Given the description of an element on the screen output the (x, y) to click on. 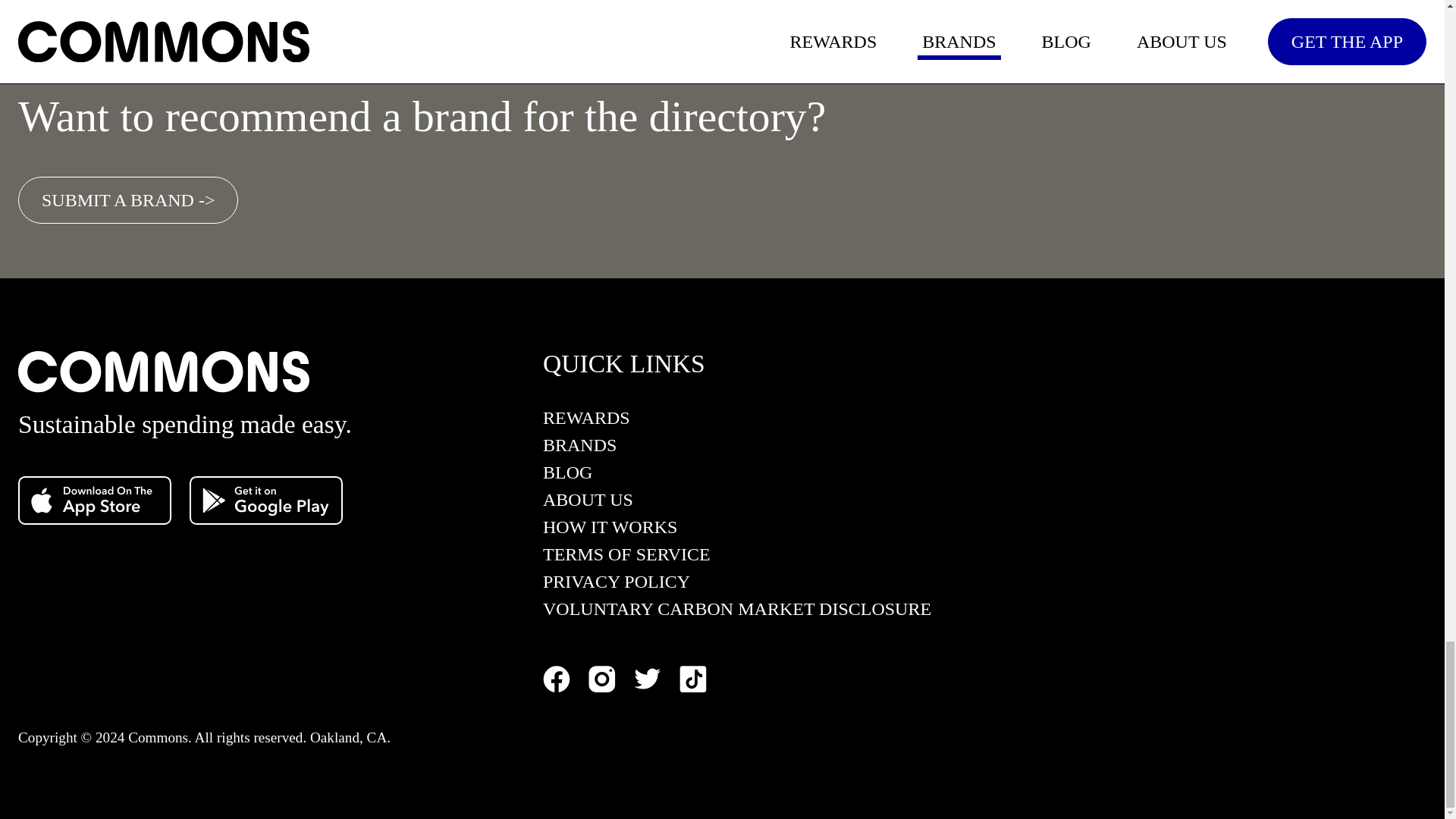
HOW IT WORKS (737, 531)
TERMS OF SERVICE (737, 558)
VOLUNTARY CARBON MARKET DISCLOSURE (737, 613)
PRIVACY POLICY (737, 585)
BRANDS (737, 449)
REWARDS (737, 421)
BLOG (737, 476)
ABOUT US (737, 503)
